Given the description of an element on the screen output the (x, y) to click on. 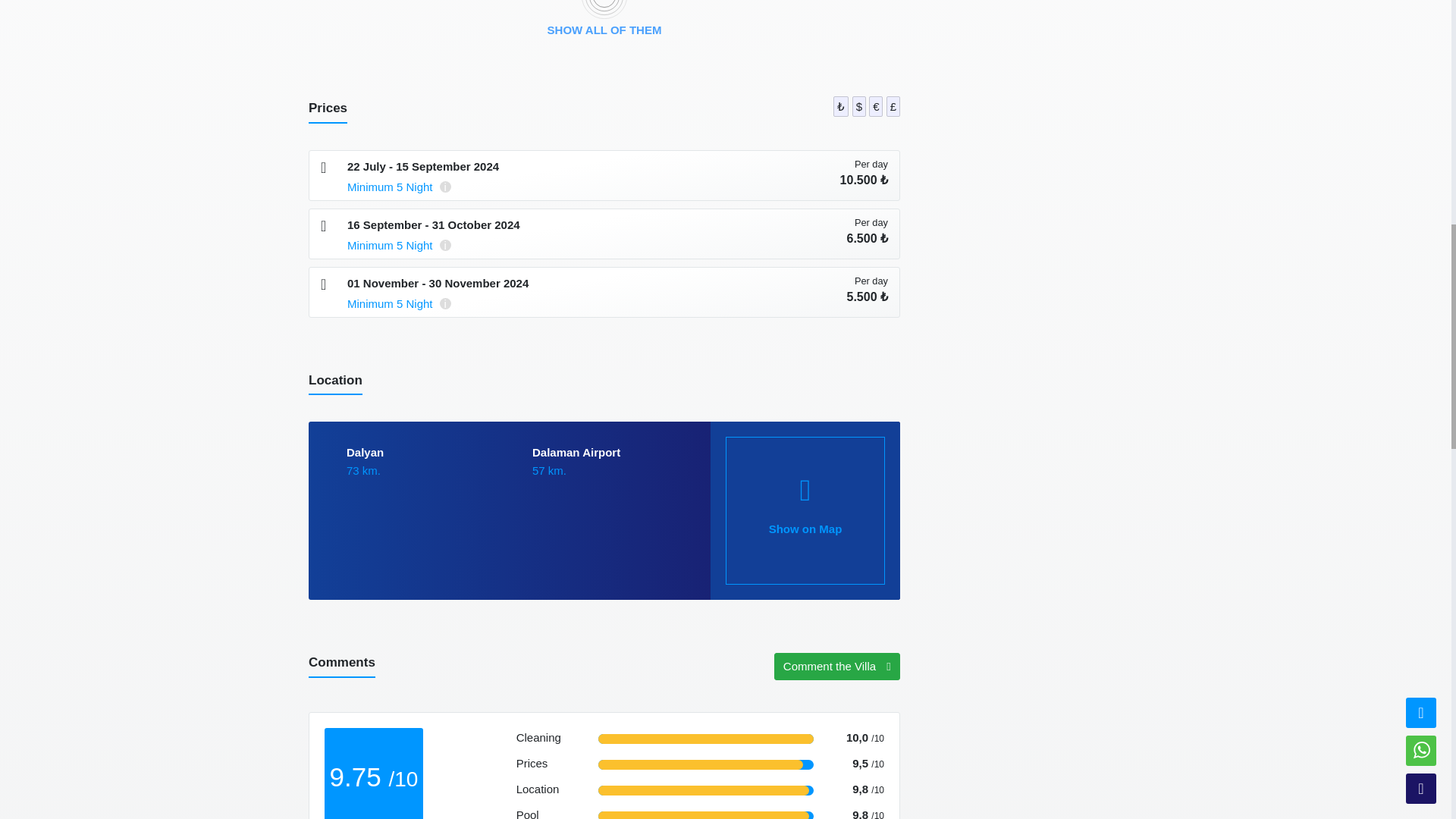
Comment the Villa (836, 666)
Show on Map (805, 510)
SHOW ALL OF THEM (603, 26)
